Given the description of an element on the screen output the (x, y) to click on. 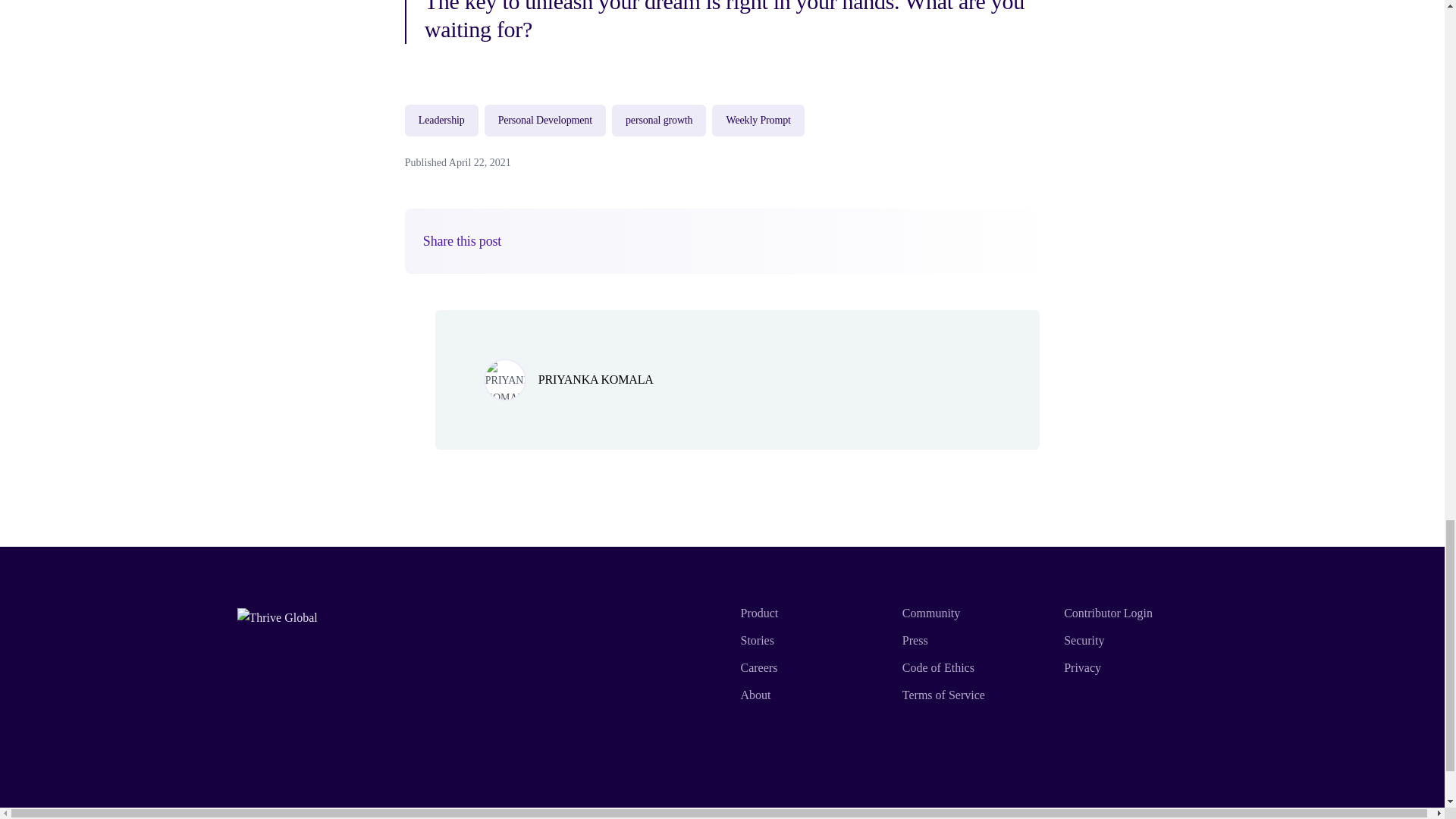
PRIYANKA KOMALA (595, 379)
